Given the description of an element on the screen output the (x, y) to click on. 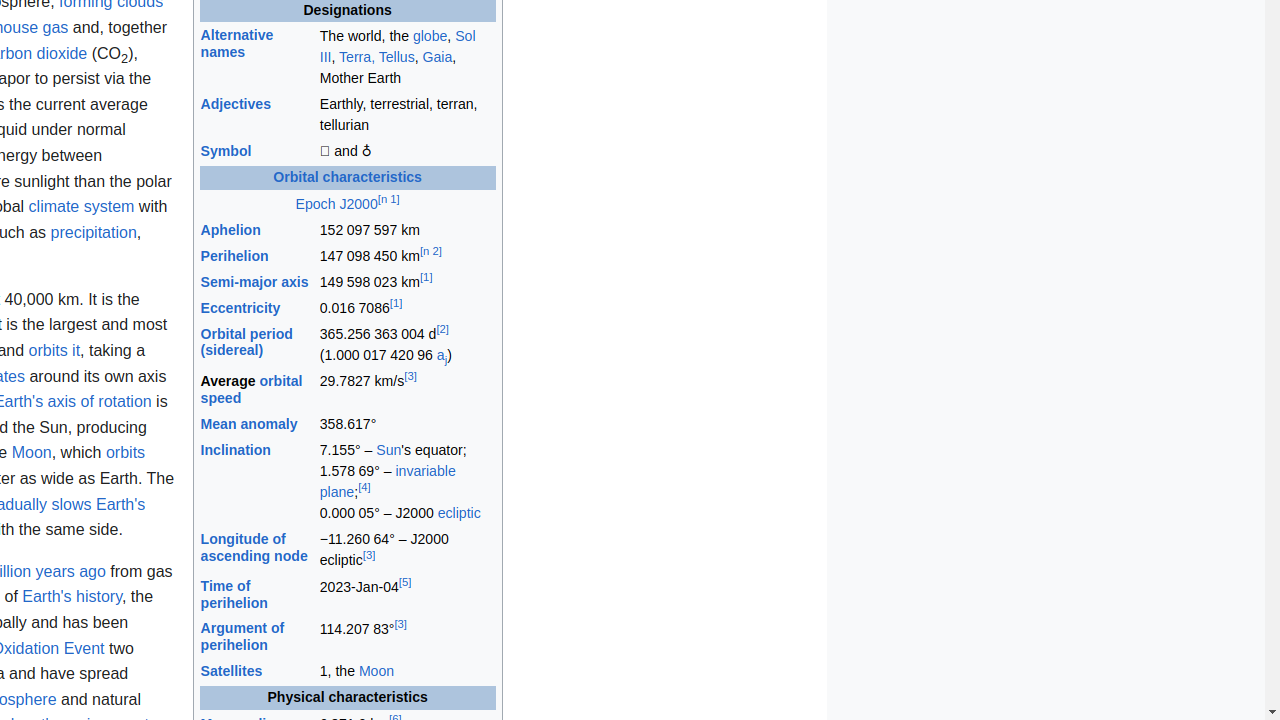
precipitation Element type: link (93, 231)
